Given the description of an element on the screen output the (x, y) to click on. 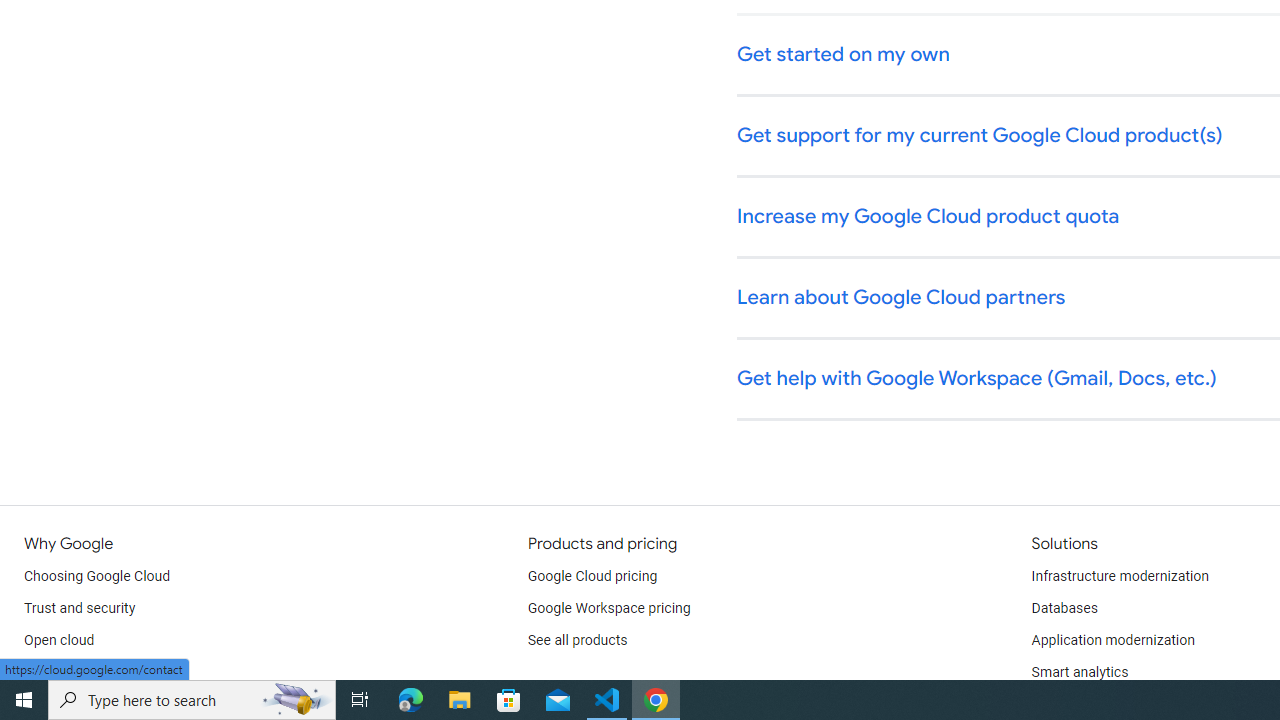
Google Workspace pricing (609, 608)
See all products (577, 640)
Choosing Google Cloud (97, 576)
Multicloud (56, 672)
Trust and security (79, 608)
Application modernization (1112, 640)
Google Cloud pricing (592, 576)
Open cloud (59, 640)
Databases (1064, 608)
Infrastructure modernization (1119, 576)
Smart analytics (1079, 672)
